Given the description of an element on the screen output the (x, y) to click on. 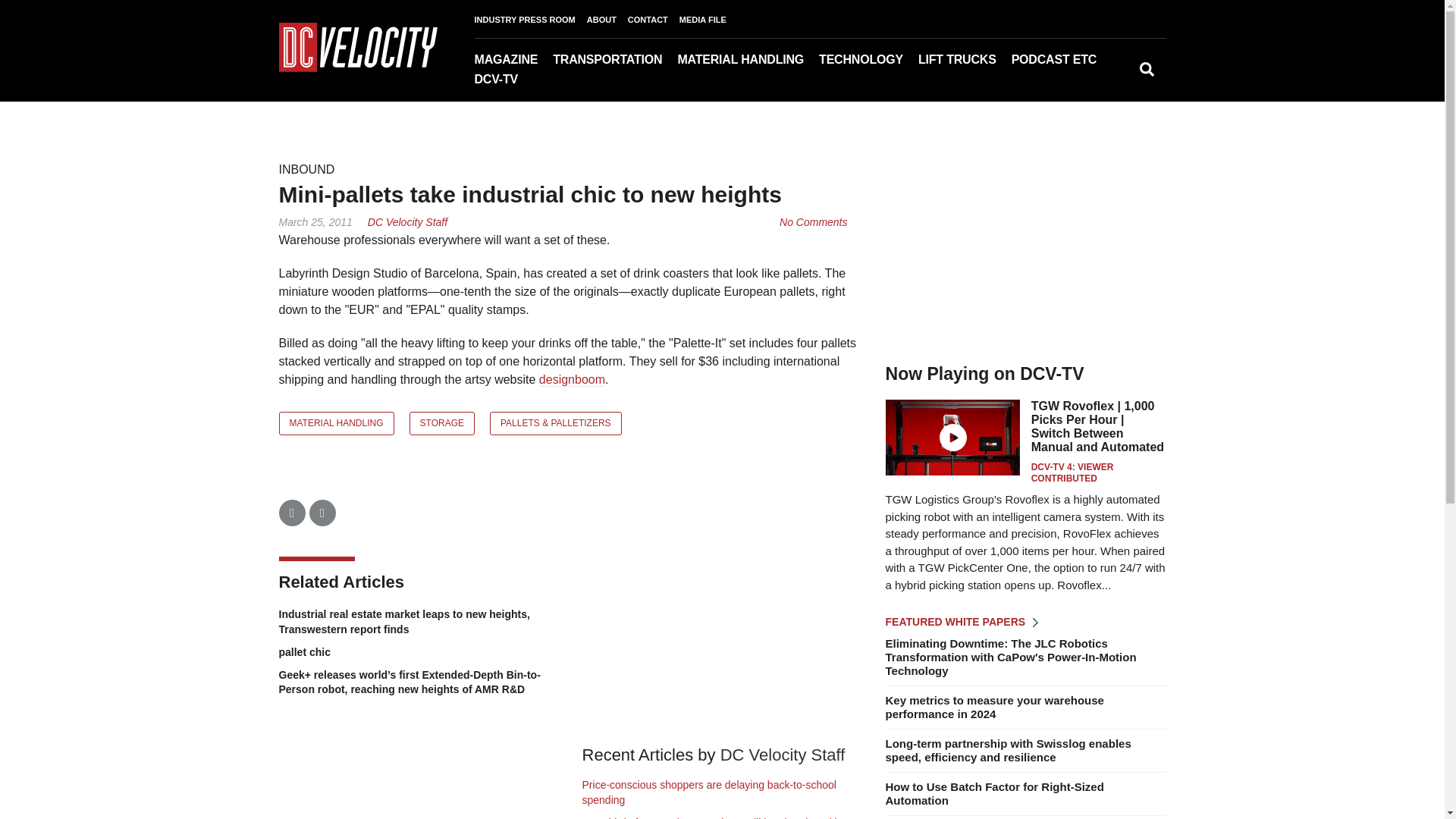
Webcasts (1093, 81)
MAGAZINE (513, 59)
LIFT TRUCKS (964, 59)
Newsletters (571, 81)
MATERIAL HANDLING (747, 59)
New Products (1115, 81)
Mobile Apps (574, 81)
Blogs (1098, 81)
Mini-pallets take industrial chic to new heights (812, 222)
CONTACT (653, 19)
